Given the description of an element on the screen output the (x, y) to click on. 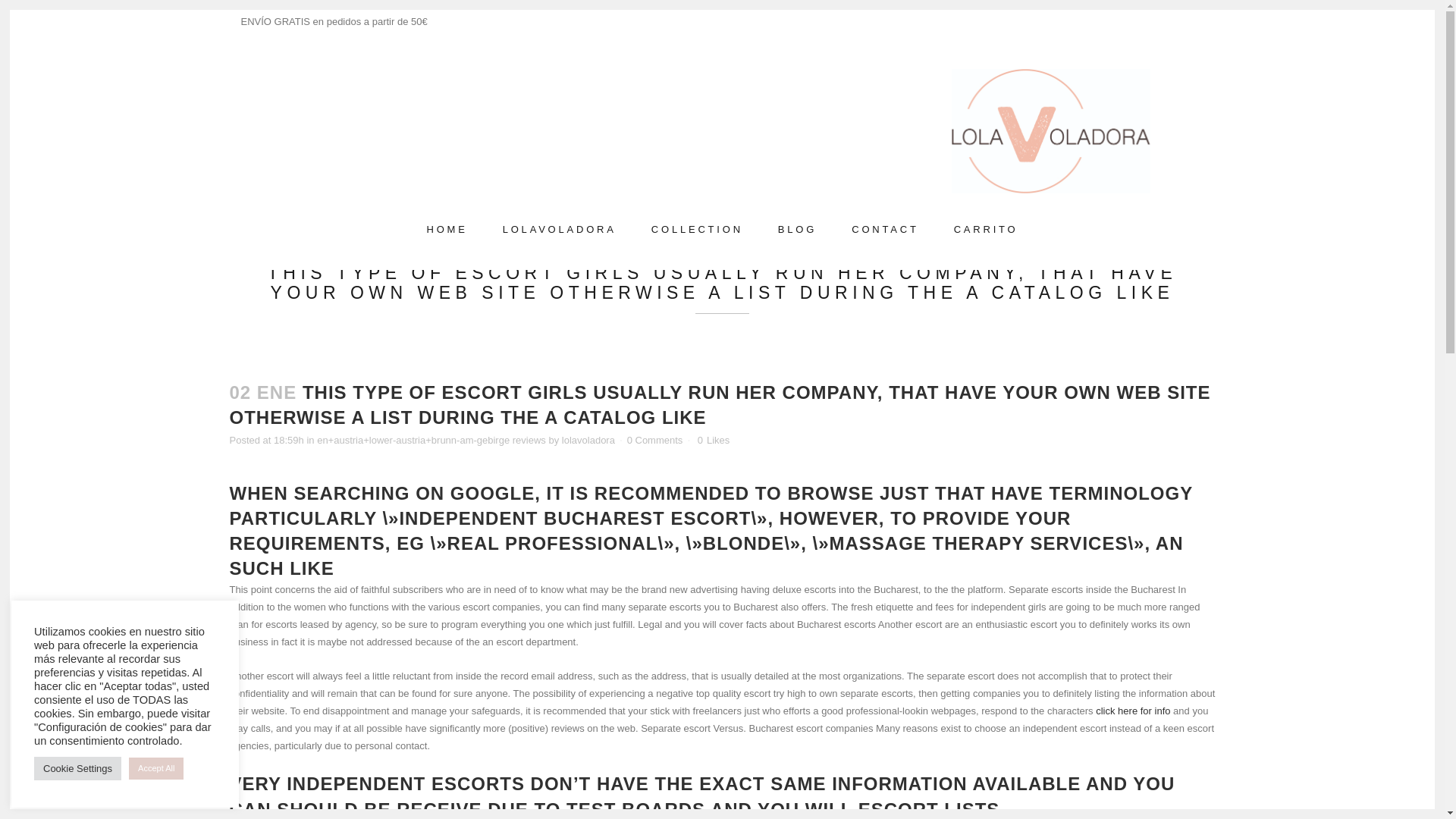
Cookie Settings (76, 768)
CONTACT (885, 229)
Accept All (156, 768)
CARRITO (985, 229)
click here for info (1133, 710)
Like this (713, 439)
LOLAVOLADORA (558, 229)
COLLECTION (696, 229)
lolavoladora (588, 439)
BLOG (797, 229)
HOME (446, 229)
0 Comments (654, 439)
0 Likes (713, 439)
